Given the description of an element on the screen output the (x, y) to click on. 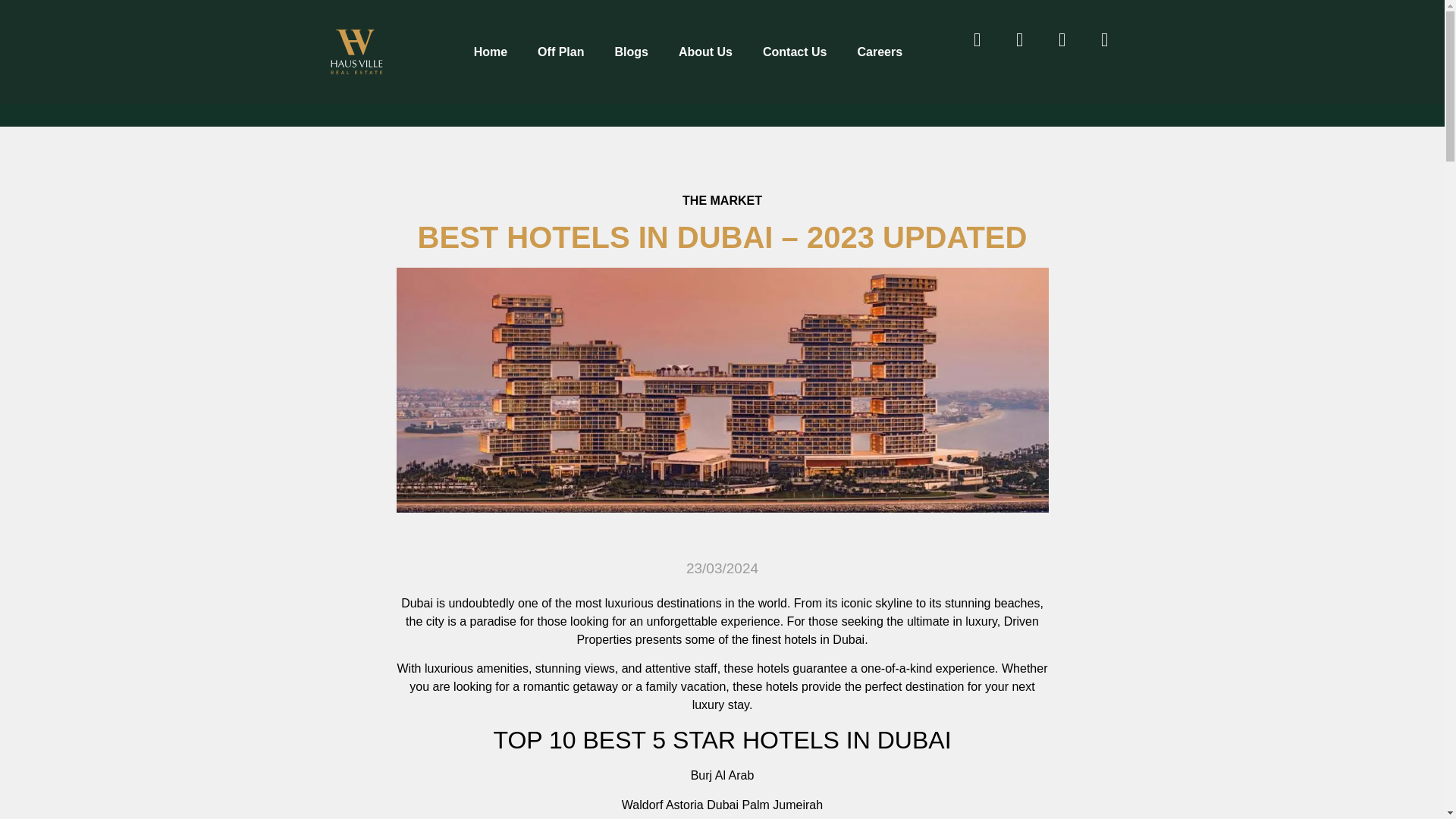
Blogs (630, 52)
Careers (879, 52)
Home (490, 52)
Off Plan (560, 52)
About Us (705, 52)
Contact Us (794, 52)
